Given the description of an element on the screen output the (x, y) to click on. 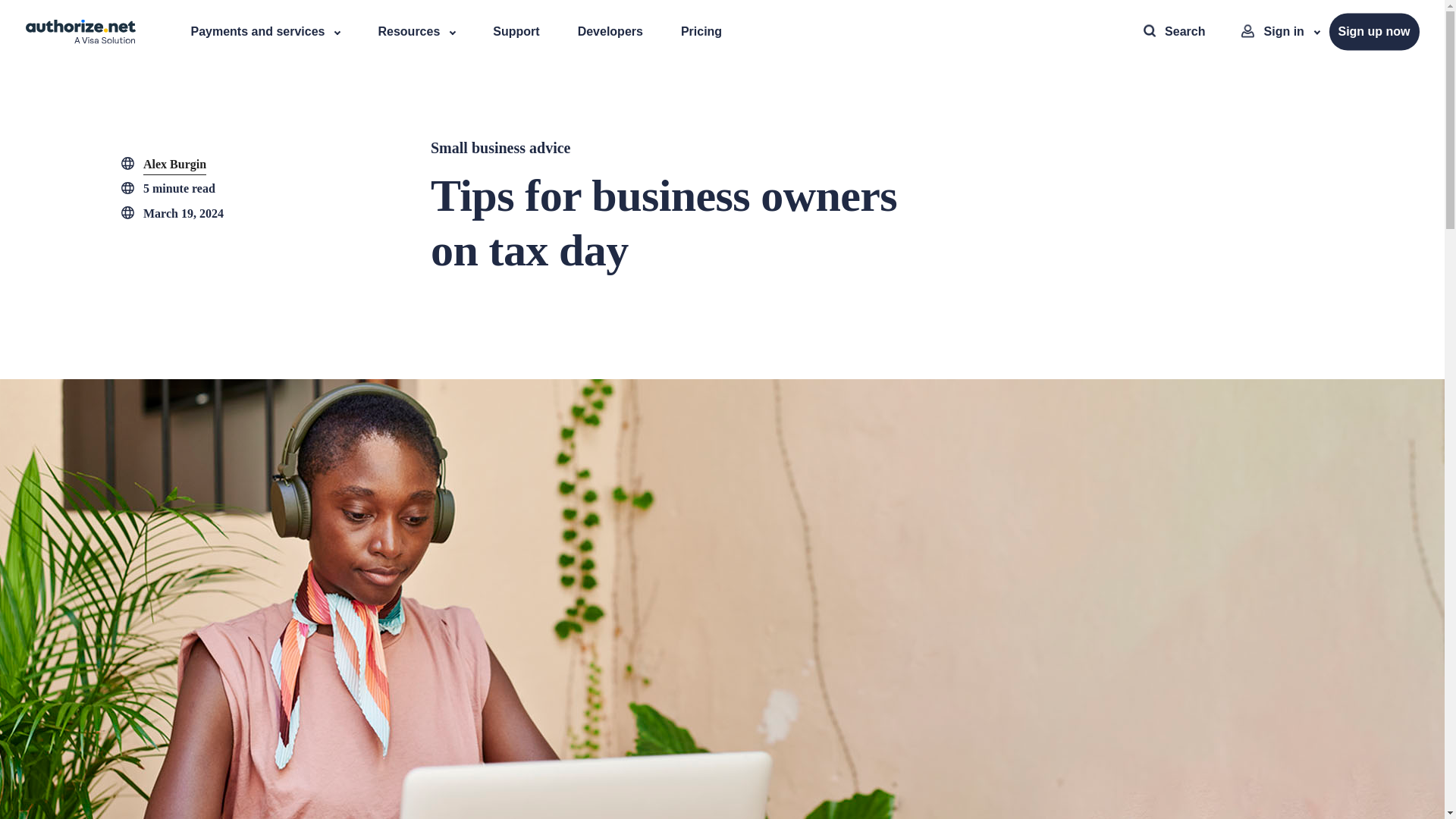
Developers (610, 31)
Developers (610, 31)
Search (1173, 31)
Payments and services (264, 31)
Alex Burgin (174, 164)
Support (515, 31)
Sign in (1280, 31)
Pricing (701, 31)
Sign up now (1373, 31)
Resources (415, 31)
